Given the description of an element on the screen output the (x, y) to click on. 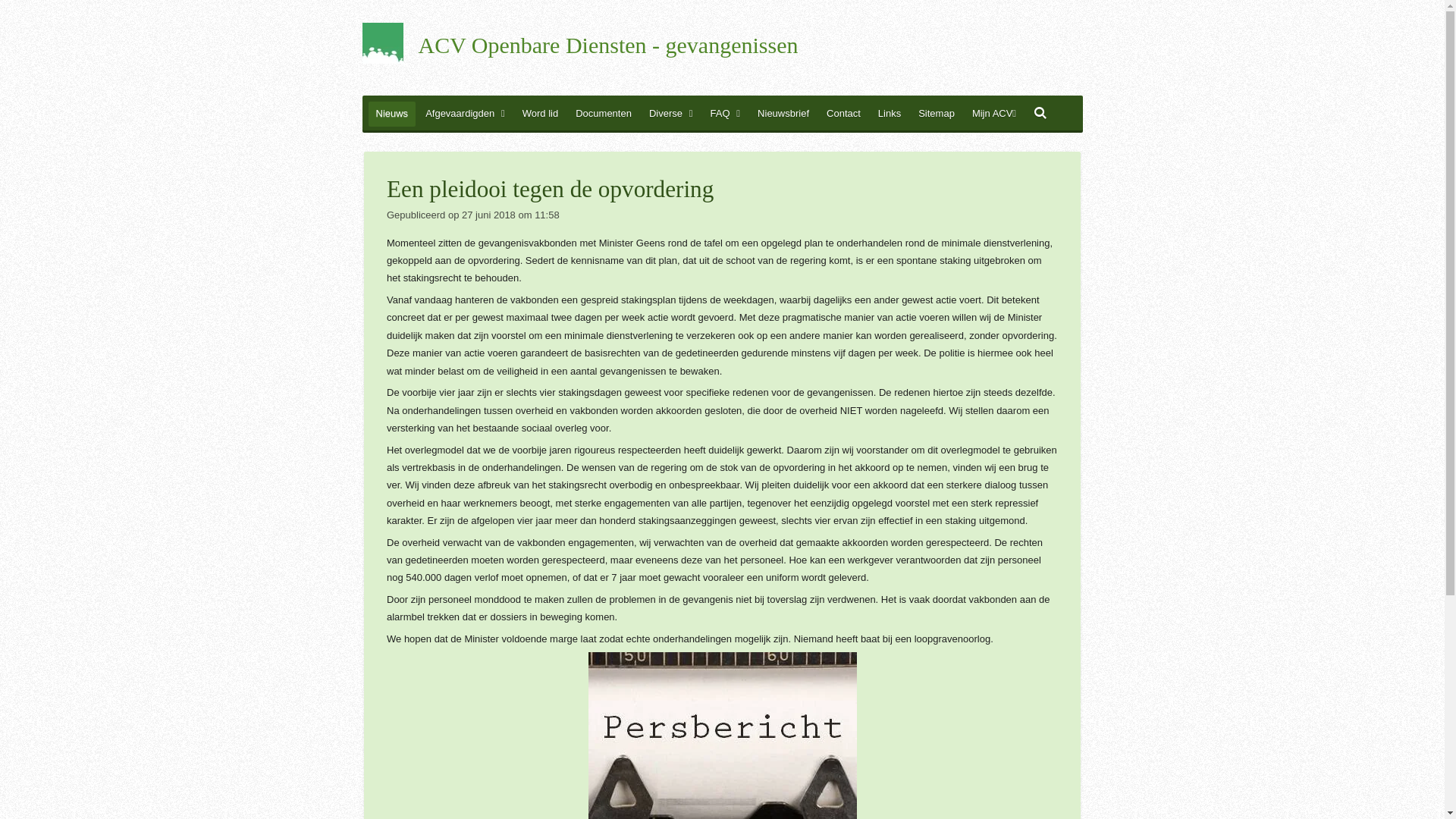
FAQ Element type: text (725, 113)
Afgevaardigden Element type: text (464, 113)
Diverse Element type: text (670, 113)
Word lid Element type: text (539, 113)
Nieuwsbrief Element type: text (782, 113)
Documenten Element type: text (603, 113)
ACV Openbare Diensten - gevangenissen Element type: hover (382, 42)
ACV Openbare Diensten - gevangenissen Element type: text (608, 46)
Nieuws Element type: text (392, 113)
Contact Element type: text (843, 113)
Zoeken Element type: hover (1040, 113)
Sitemap Element type: text (936, 113)
Links Element type: text (889, 113)
